Given the description of an element on the screen output the (x, y) to click on. 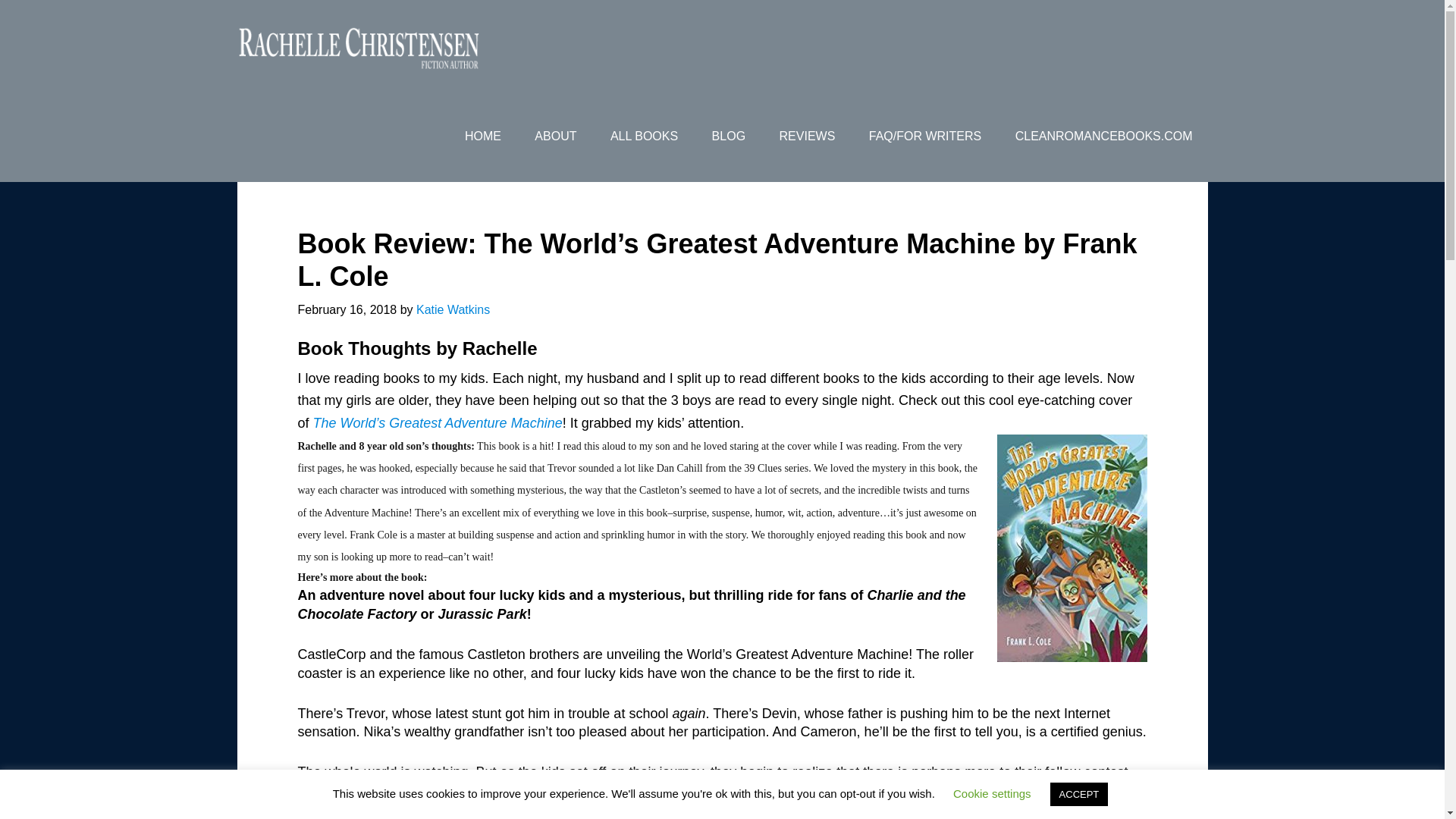
ROMANCE (532, 128)
Rachelle J. Christensen (357, 45)
CLEANROMANCEBOOKS.COM (1104, 135)
Katie Watkins (452, 309)
AUDIOBOOKS (875, 128)
ALL BOOKS (644, 135)
MYSTERY (641, 128)
SUSPENSE (752, 128)
REVIEWS (807, 135)
NEW RELEASES (1136, 128)
